Given the description of an element on the screen output the (x, y) to click on. 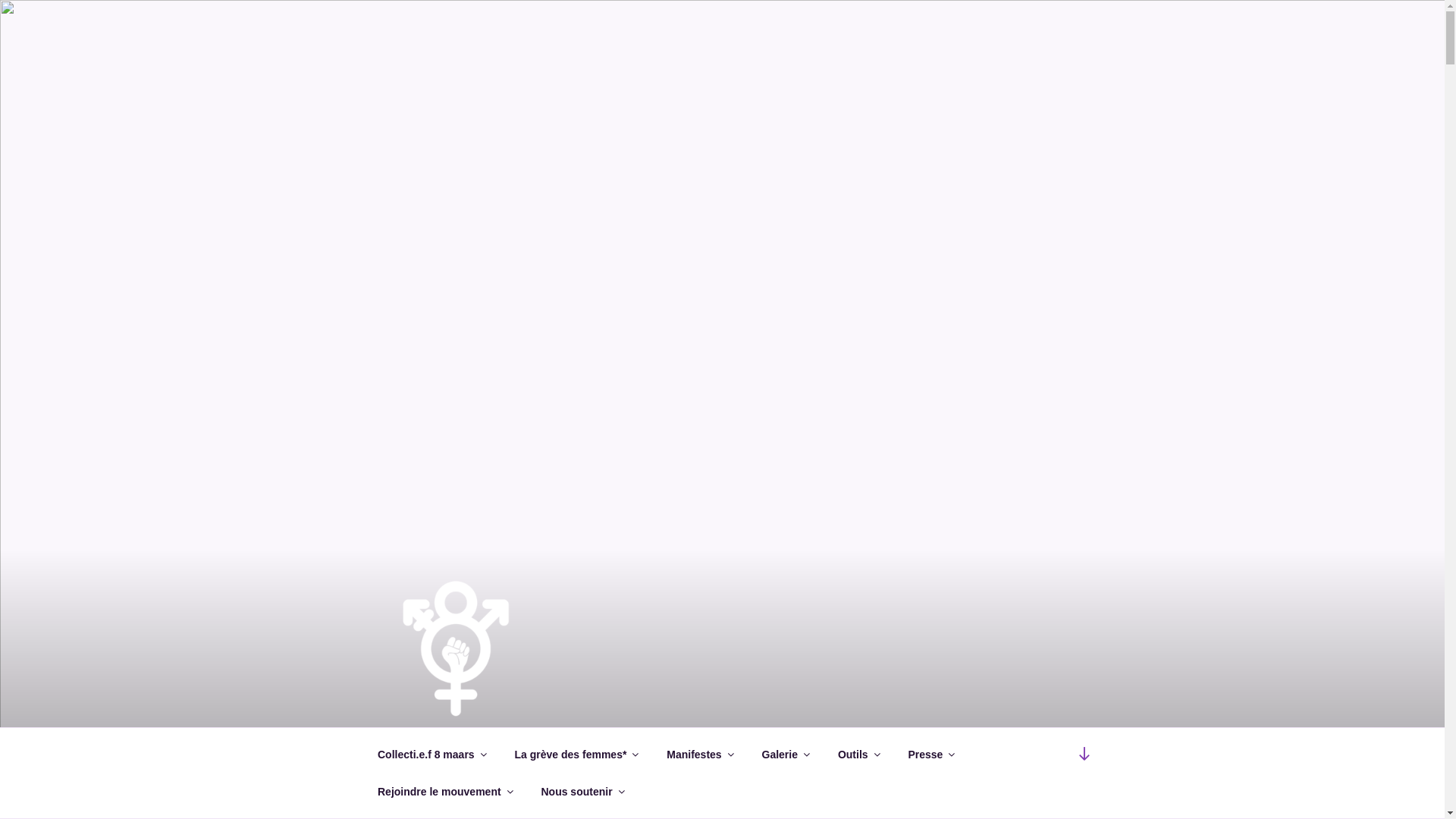
Manifestes Element type: text (699, 753)
Galerie Element type: text (784, 753)
COLLECTI.E.F 8 MAARS Element type: text (559, 746)
Presse Element type: text (930, 753)
Outils Element type: text (857, 753)
Collecti.e.f 8 maars Element type: text (431, 753)
Nous soutenir Element type: text (581, 791)
Scroll down to content Element type: text (1083, 753)
Rejoindre le mouvement Element type: text (444, 791)
